Given the description of an element on the screen output the (x, y) to click on. 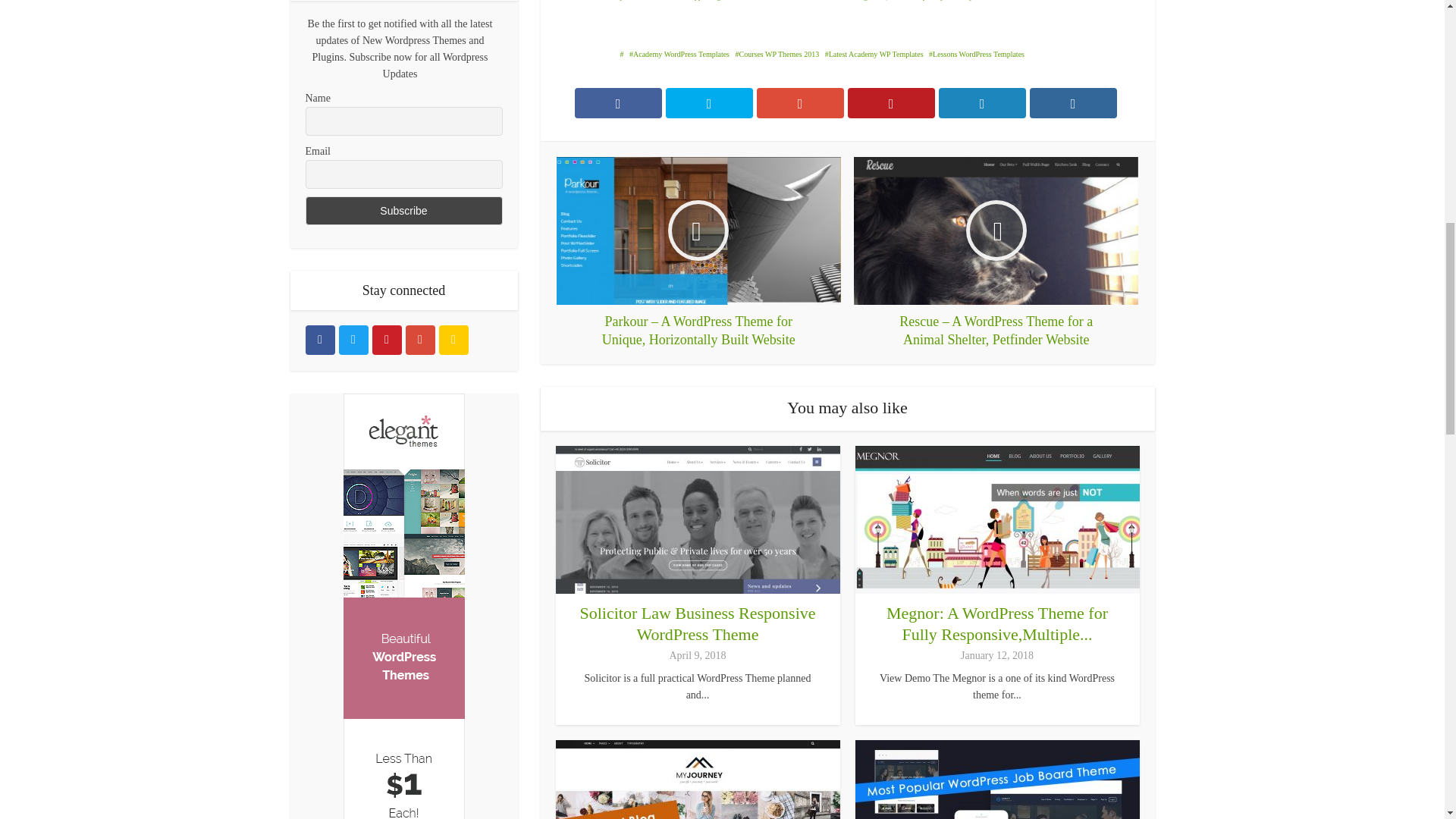
Solicitor Law Business Responsive WordPress Theme (697, 623)
twitter (352, 339)
Academy WordPress Templates (678, 53)
google-plus (418, 339)
feedburner (452, 339)
Twitter (352, 339)
Courses WP Themes 2013 (777, 53)
Feedburner (452, 339)
pinterest (386, 339)
Facebook (319, 339)
Subscribe (403, 210)
Google Plus (418, 339)
Subscribe (403, 210)
